Given the description of an element on the screen output the (x, y) to click on. 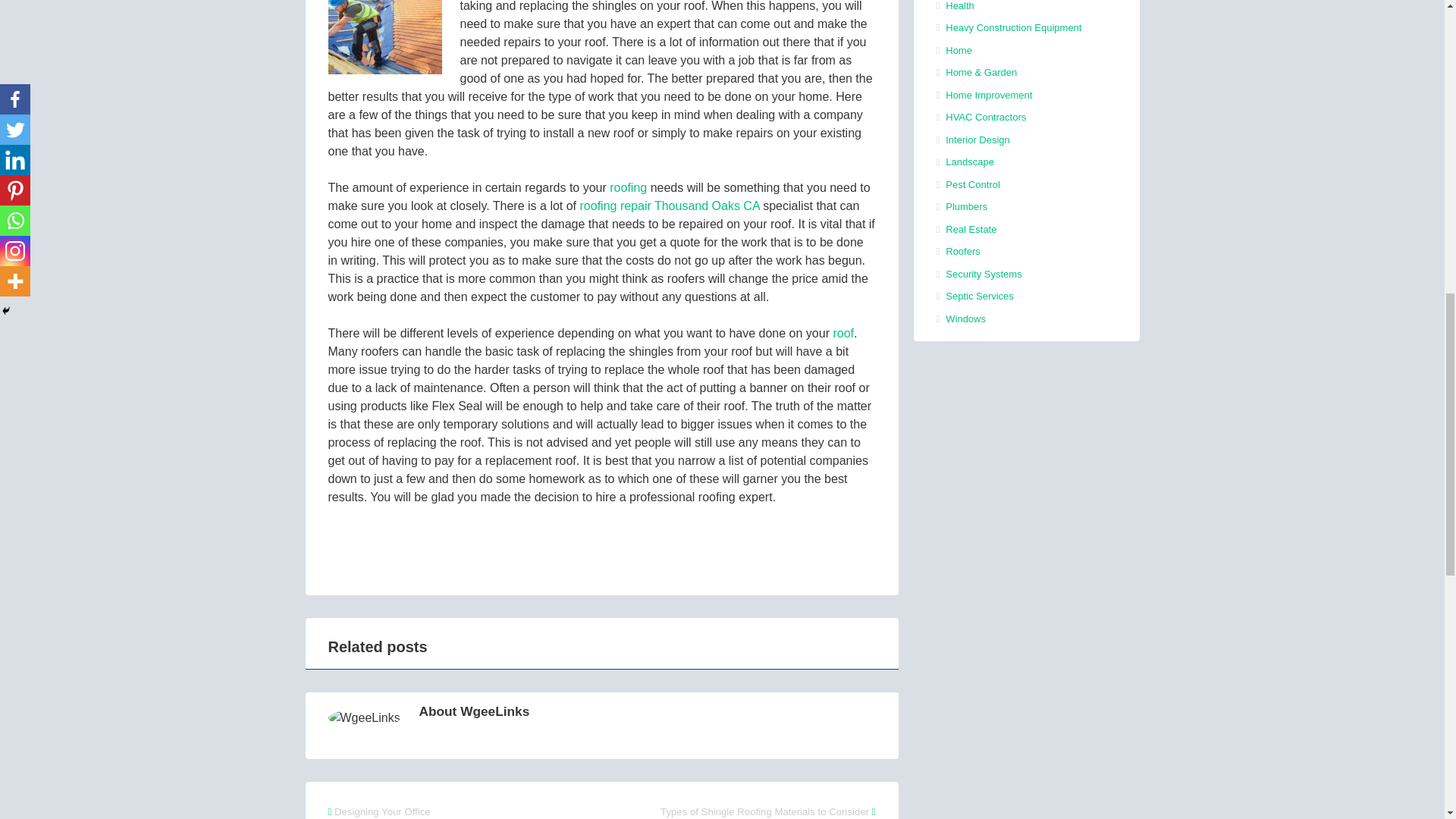
Types of Shingle Roofing Materials to Consider (765, 811)
roof (842, 332)
Designing Your Office (382, 811)
roofing repair Thousand Oaks CA (669, 205)
roofing (628, 187)
